Given the description of an element on the screen output the (x, y) to click on. 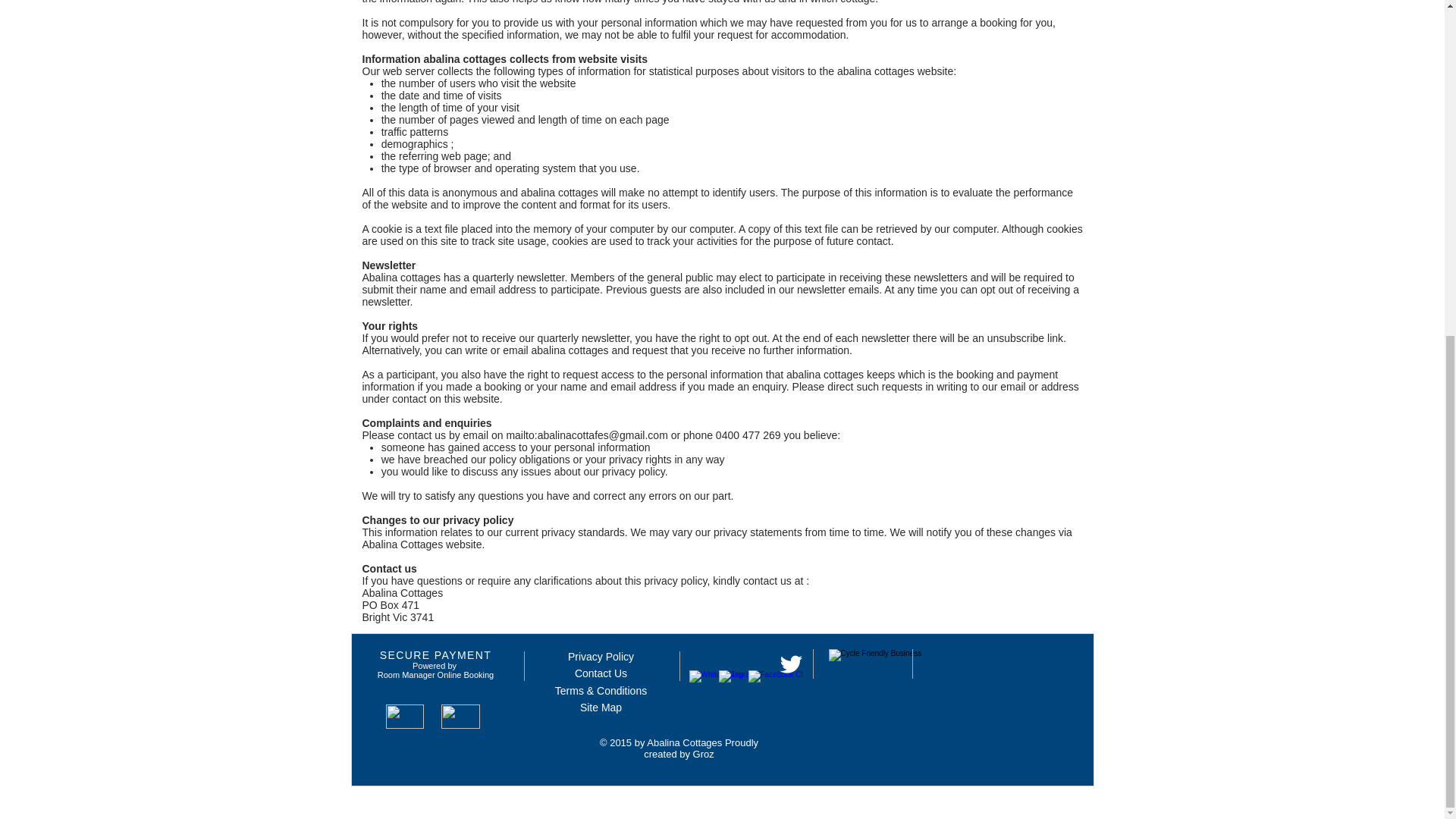
Abalina Cottages is proudly cycle-friendly (880, 704)
Contact Us (601, 673)
master.png (460, 716)
Room Manager Online Booking (435, 674)
Privacy Policy (600, 656)
